Given the description of an element on the screen output the (x, y) to click on. 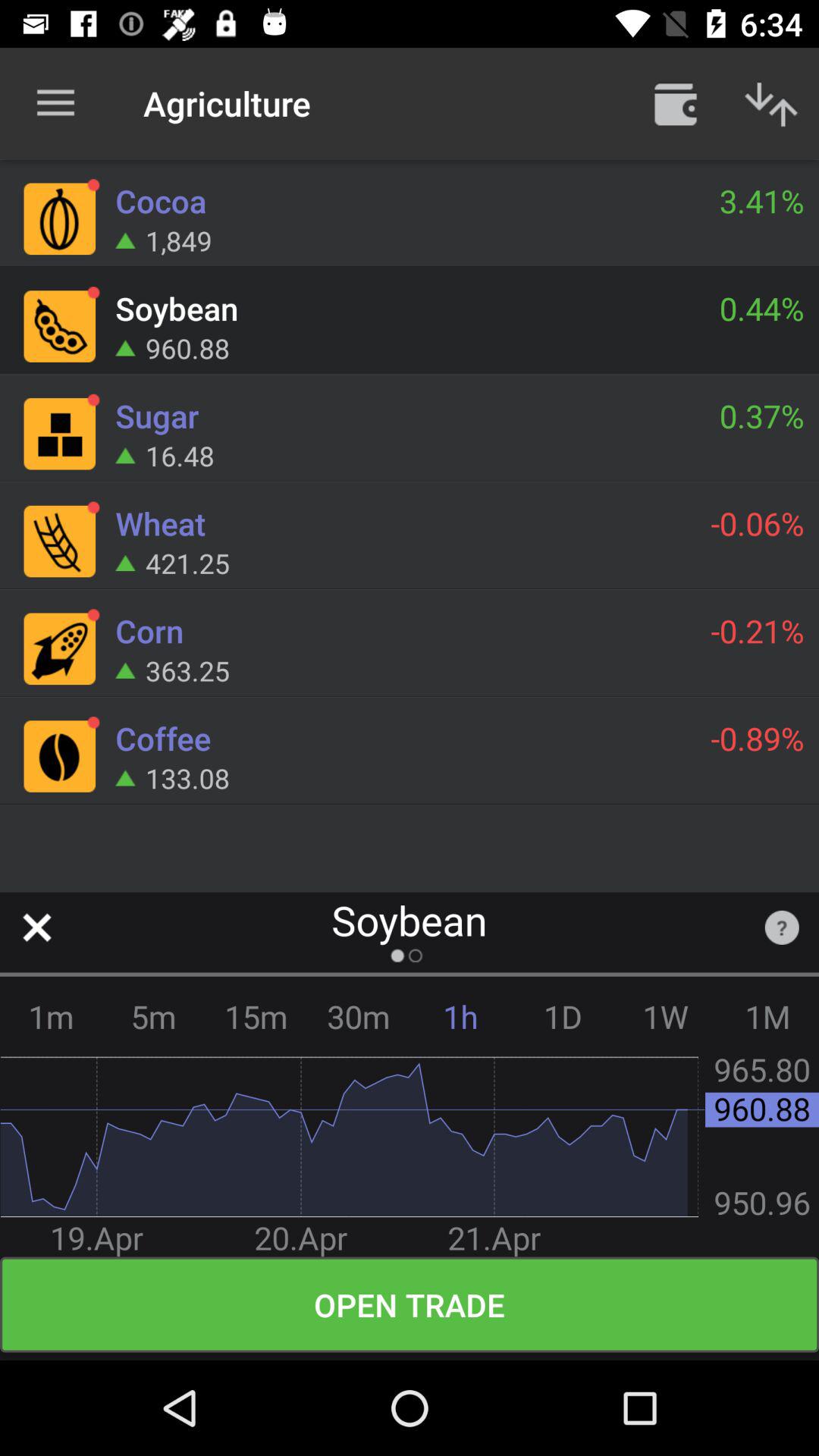
tap the item next to the agriculture item (675, 103)
